Given the description of an element on the screen output the (x, y) to click on. 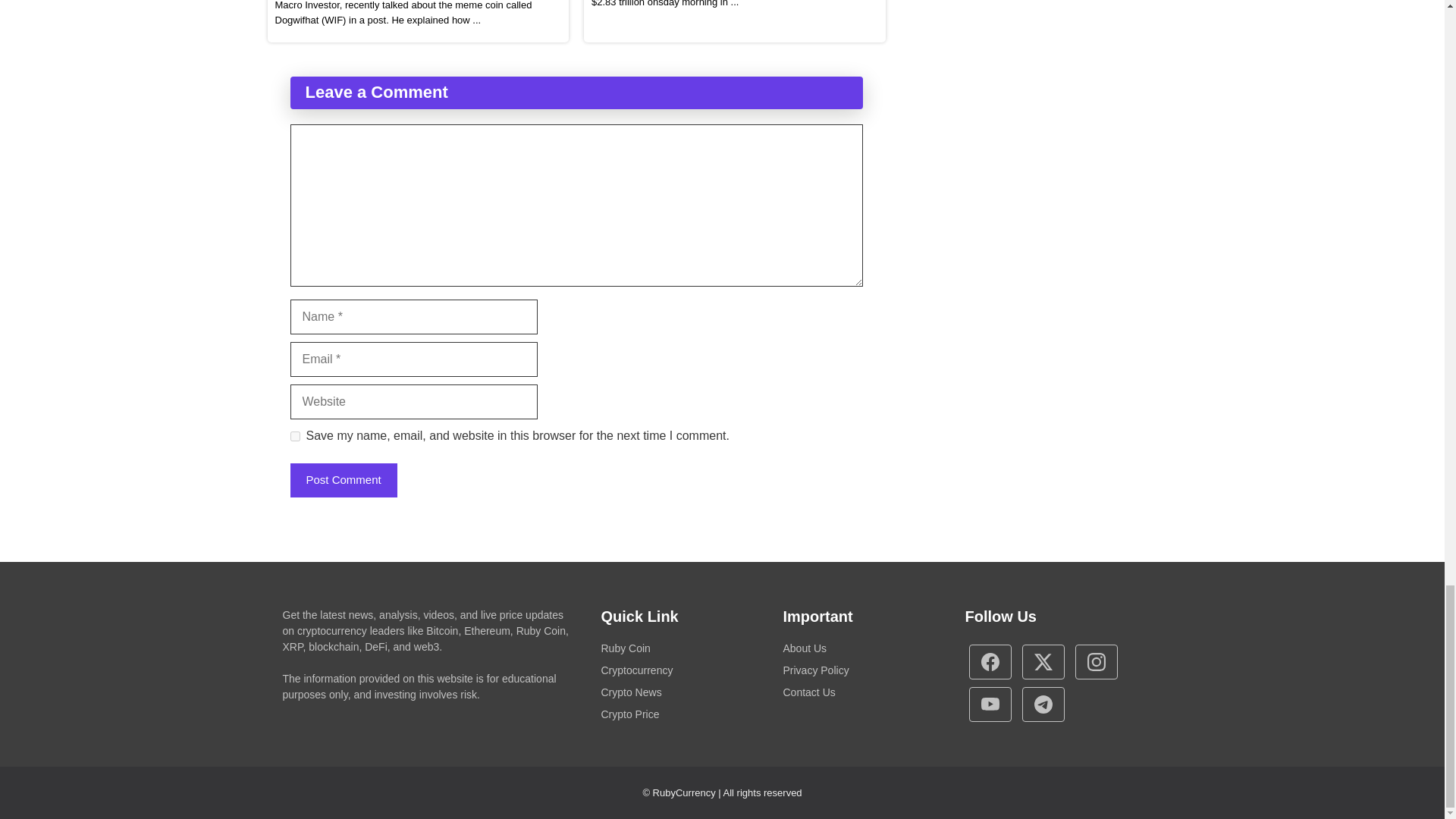
Post Comment (342, 480)
yes (294, 436)
Post Comment (342, 480)
